Given the description of an element on the screen output the (x, y) to click on. 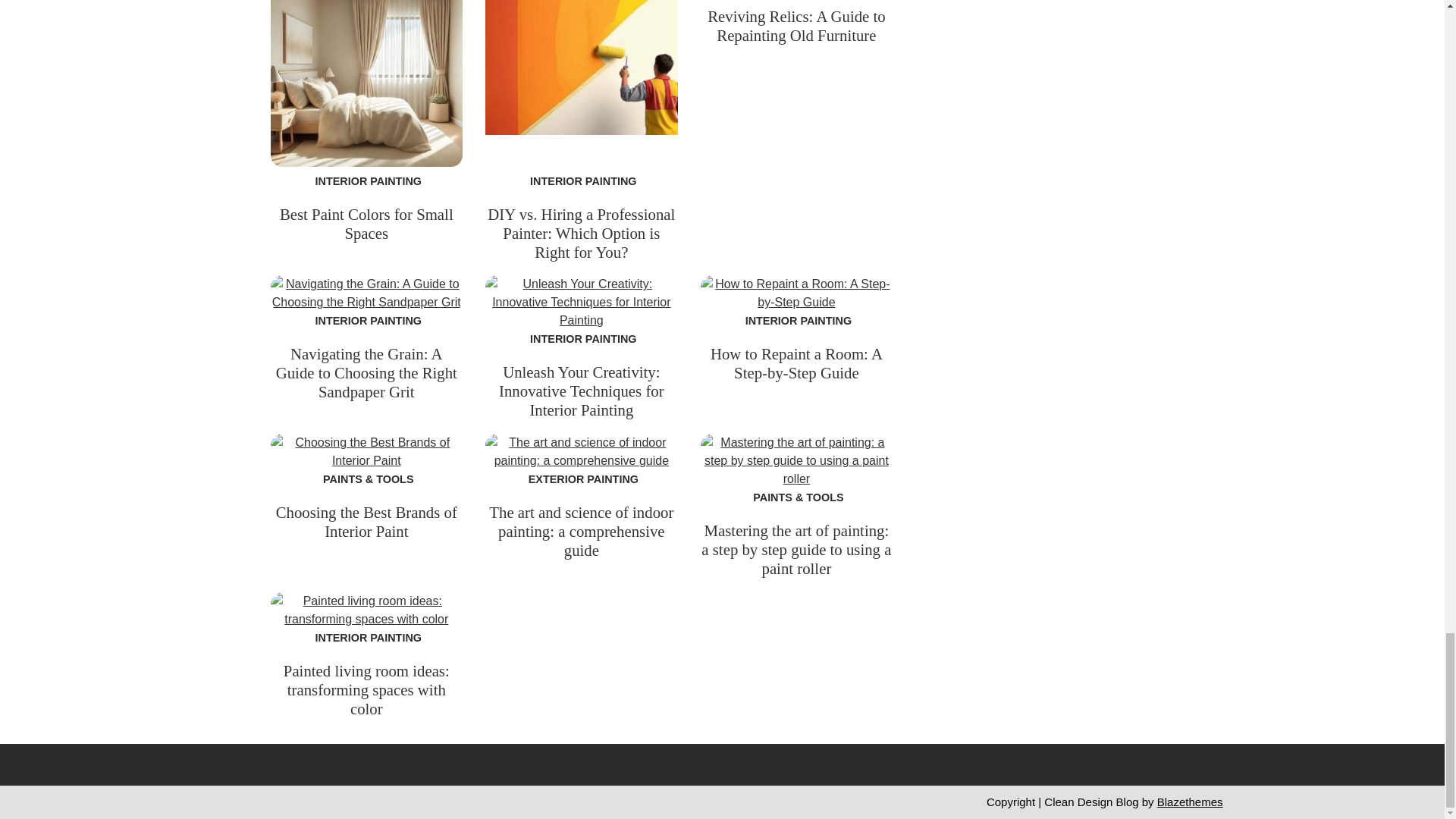
INTERIOR PAINTING (580, 338)
Reviving Relics: A Guide to Repainting Old Furniture (796, 25)
INTERIOR PAINTING (366, 320)
INTERIOR PAINTING (796, 320)
How to Repaint a Room: A Step-by-Step Guide (796, 362)
INTERIOR PAINTING (580, 181)
INTERIOR PAINTING (366, 181)
Best Paint Colors for Small Spaces (365, 223)
